Given the description of an element on the screen output the (x, y) to click on. 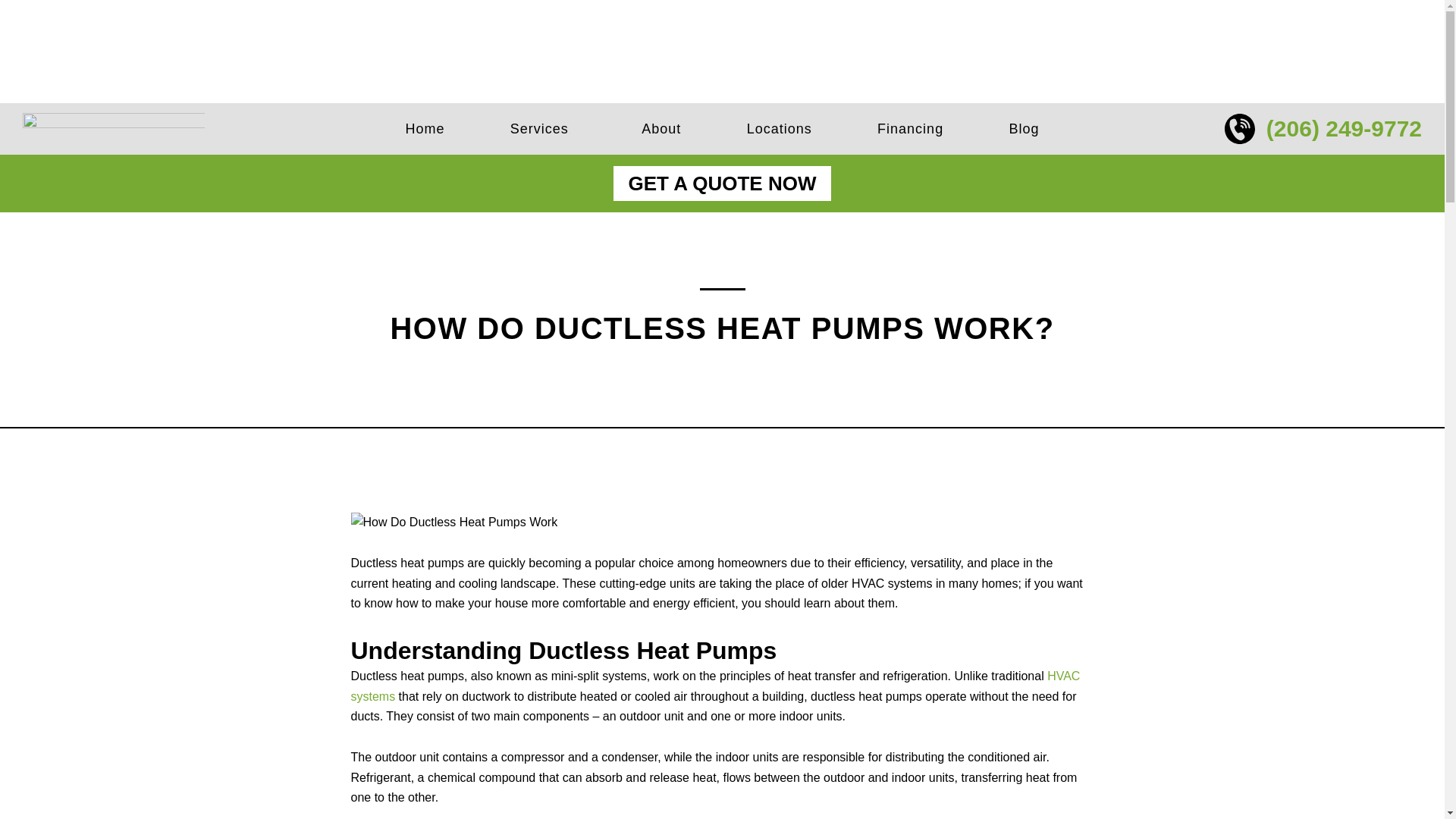
Home (424, 128)
Services (542, 128)
Blog (1023, 128)
About (660, 128)
HVAC systems (715, 685)
Locations (778, 128)
Financing (909, 128)
GET A QUOTE NOW (721, 183)
